Given the description of an element on the screen output the (x, y) to click on. 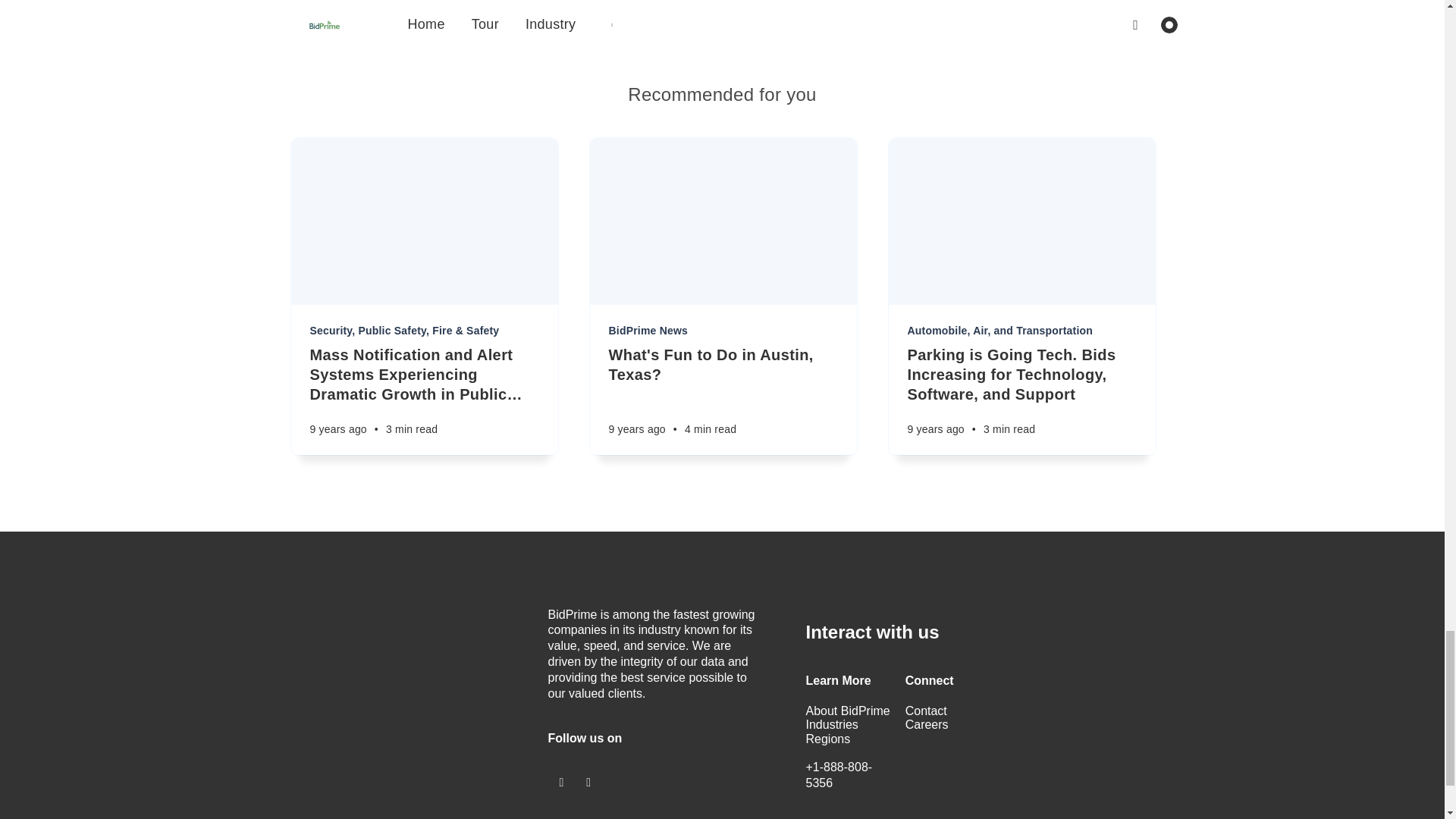
What's Fun to Do in Austin, Texas? (722, 364)
